Given the description of an element on the screen output the (x, y) to click on. 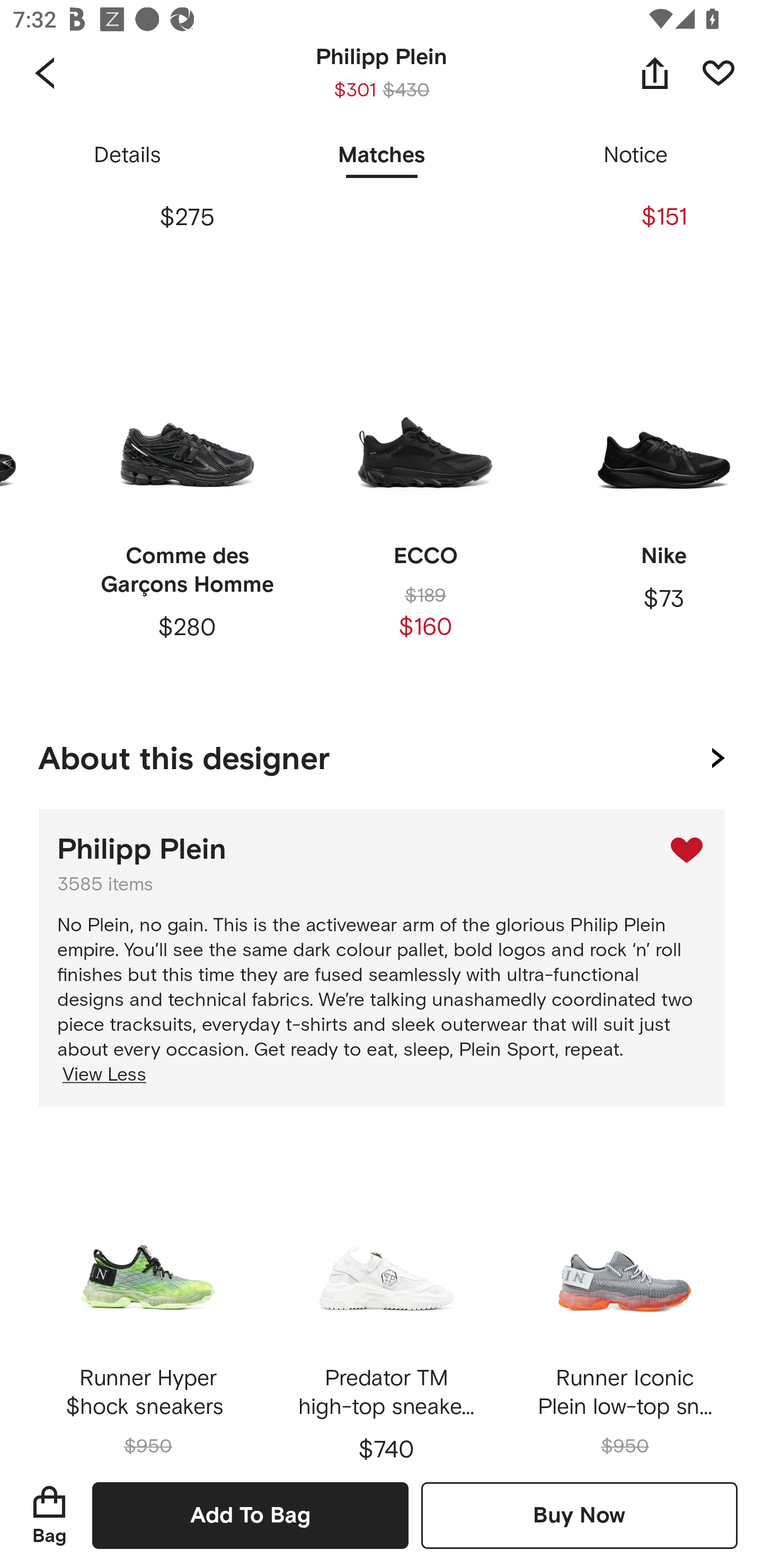
$209 (424, 145)
Details (127, 155)
Notice (635, 155)
Comme des Garçons Homme $280 (186, 505)
ECCO $189 $160 (424, 505)
Nike $73 (658, 505)
About this designer (381, 754)
 View Less (101, 1075)
Runner Hyper $hock sneakers  $950 $380 (147, 1297)
Predator TM high-top sneakers  $740 (385, 1297)
Runner Iconic Plein low-top sneakers $950 $380 (624, 1297)
Bag (49, 1515)
Add To Bag (250, 1515)
Buy Now (579, 1515)
